Given the description of an element on the screen output the (x, y) to click on. 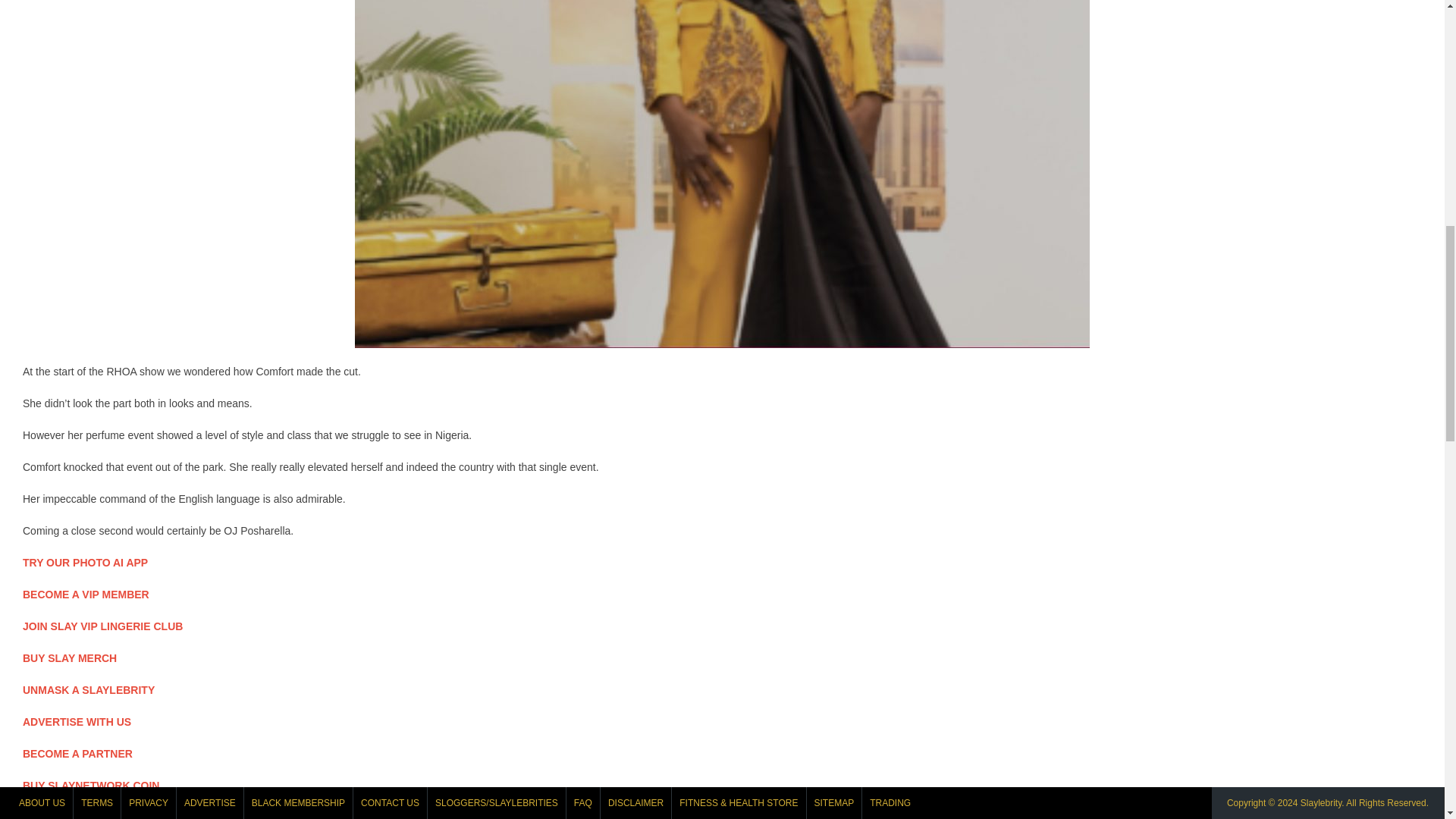
TRY OUR PHOTO AI APP (85, 562)
JOIN SLAY VIP LINGERIE CLUB (103, 625)
BECOME A PARTNER (77, 753)
BUY SLAYNETWORK COIN (90, 785)
BECOME A VIP MEMBER (86, 594)
BUY SLAY MERCH (69, 657)
UNMASK A SLAYLEBRITY (88, 689)
ADVERTISE WITH US (77, 721)
